Given the description of an element on the screen output the (x, y) to click on. 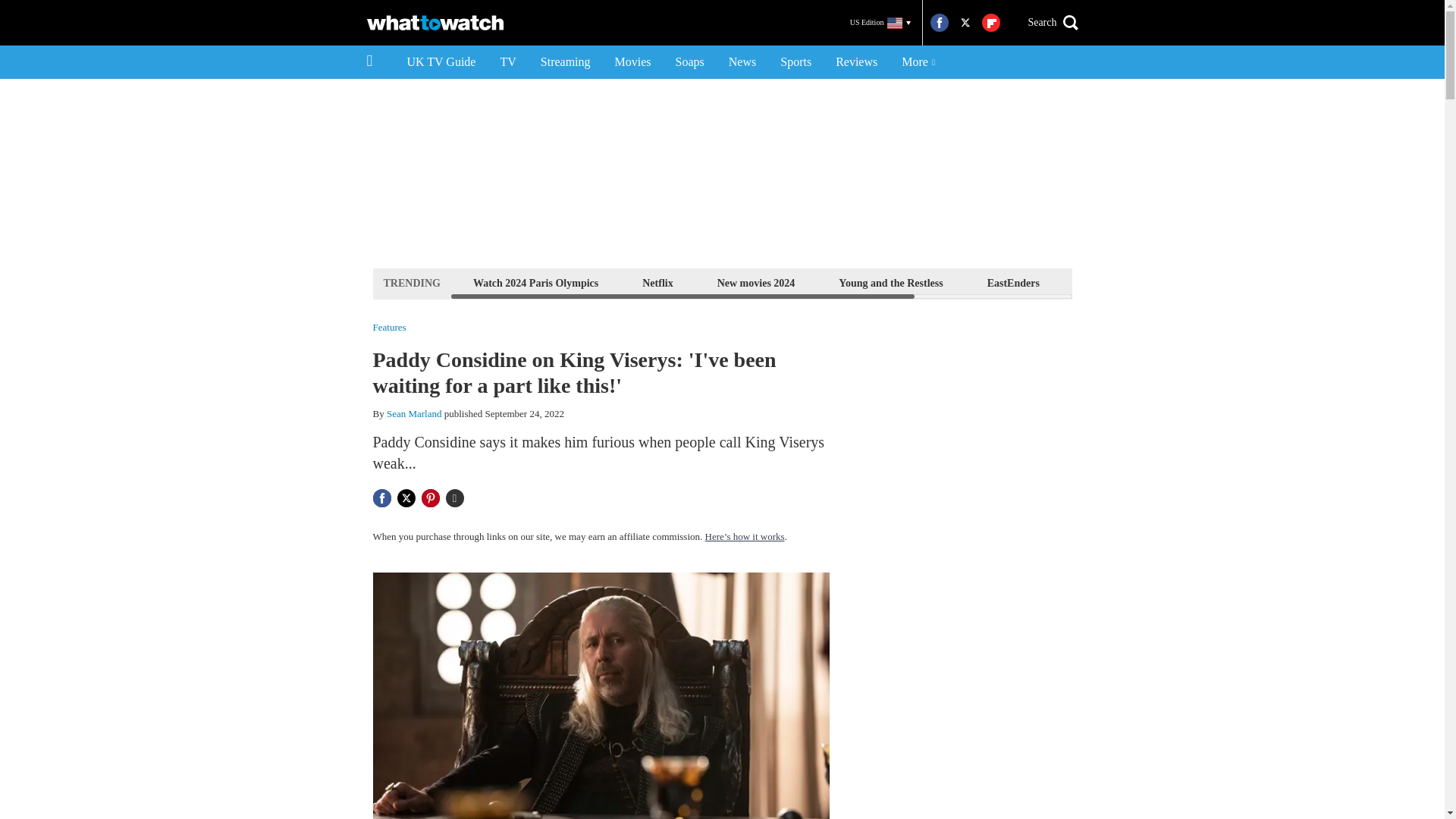
Netflix (657, 282)
UK TV Guide (440, 61)
US Edition (880, 22)
Soaps (689, 61)
Coronation Street (1220, 282)
EastEnders (1013, 282)
Sean Marland (414, 413)
TV (507, 61)
Streaming (565, 61)
Reviews (856, 61)
Movies (632, 61)
New movies 2024 (755, 282)
Sports (796, 61)
Young and the Restless (889, 282)
Emmerdale (1109, 282)
